Given the description of an element on the screen output the (x, y) to click on. 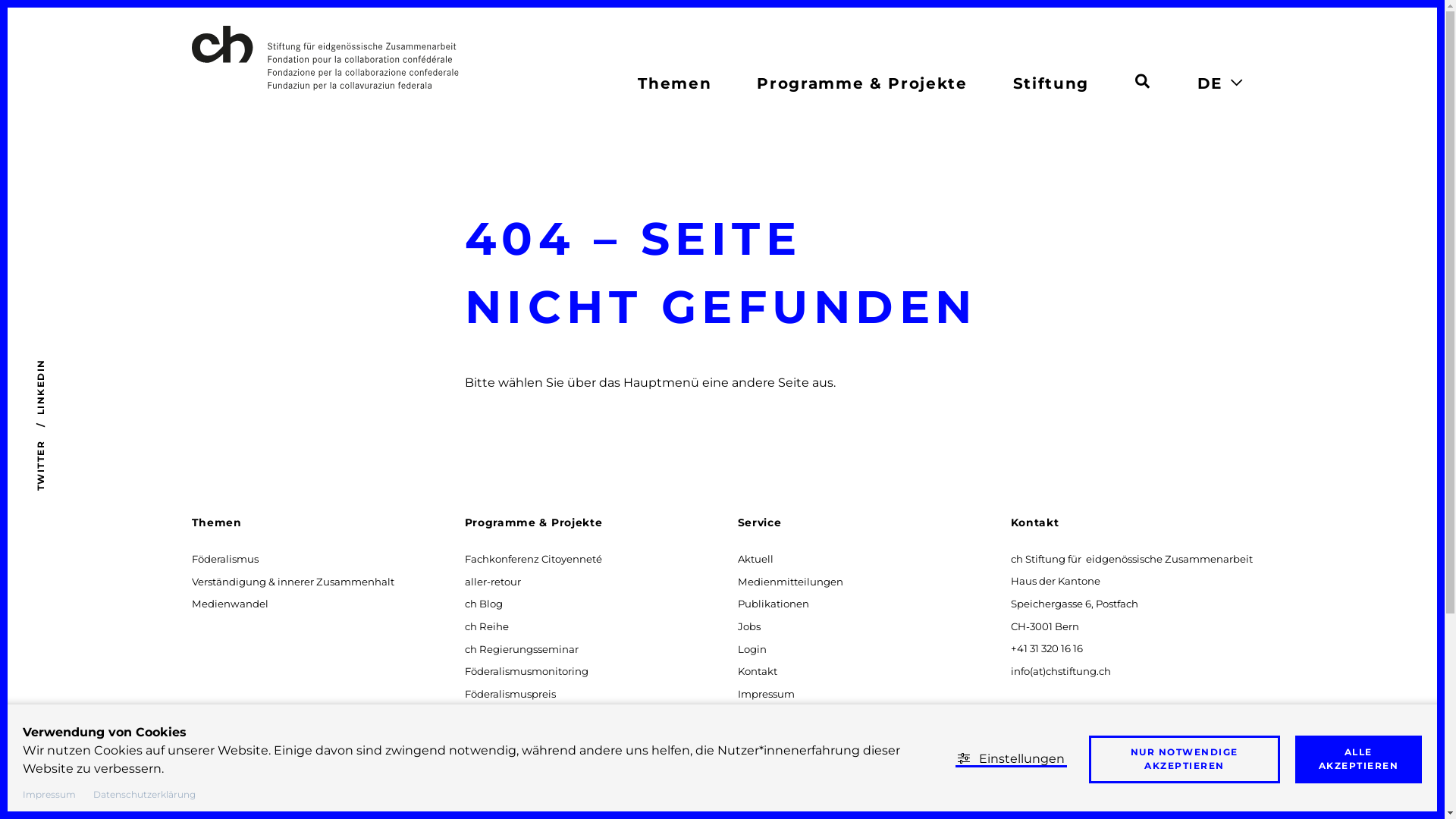
Home Element type: text (396, 58)
Datenschutz Element type: text (769, 716)
DE Element type: text (1209, 83)
Medienwandel Element type: text (229, 603)
ch Blog Element type: text (483, 603)
info(at)chstiftung.ch Element type: text (1060, 670)
ch Regierungsseminar Element type: text (521, 648)
Suche Element type: hover (1142, 80)
ch Reihe Element type: text (486, 625)
Impressum Element type: text (765, 693)
Login Element type: text (751, 648)
Impressum Element type: text (49, 793)
Publikationen Element type: text (772, 603)
Programme & Projekte Element type: text (533, 522)
ALLE AKZEPTIEREN Element type: text (1358, 759)
Premier Emploi Element type: text (503, 783)
Einstellungen Element type: text (1010, 758)
Aktuell Element type: text (755, 558)
Medienmitteilungen Element type: text (789, 581)
NUR NOTWENDIGE AKZEPTIEREN Element type: text (1184, 759)
Kontakt Element type: text (756, 670)
Jobs Element type: text (748, 625)
Suche Element type: text (1141, 78)
Haus der Kantone Element type: text (508, 738)
aller-retour Element type: text (492, 581)
Themen Element type: text (216, 522)
